Given the description of an element on the screen output the (x, y) to click on. 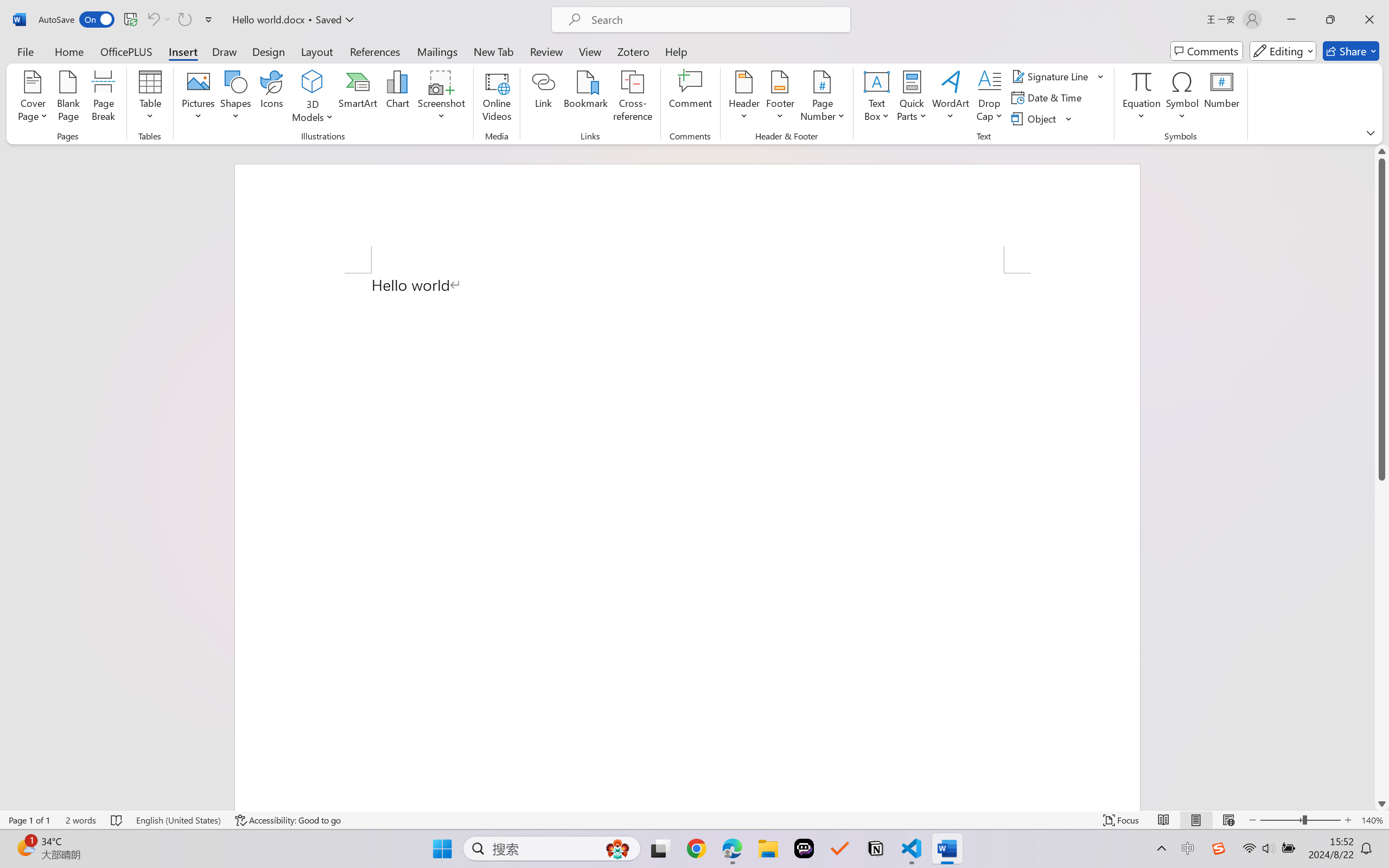
Compare (543, 62)
Spelling... (16, 62)
Reject Change (594, 51)
Reject (594, 62)
Traditional (243, 60)
Simplified (242, 46)
